Given the description of an element on the screen output the (x, y) to click on. 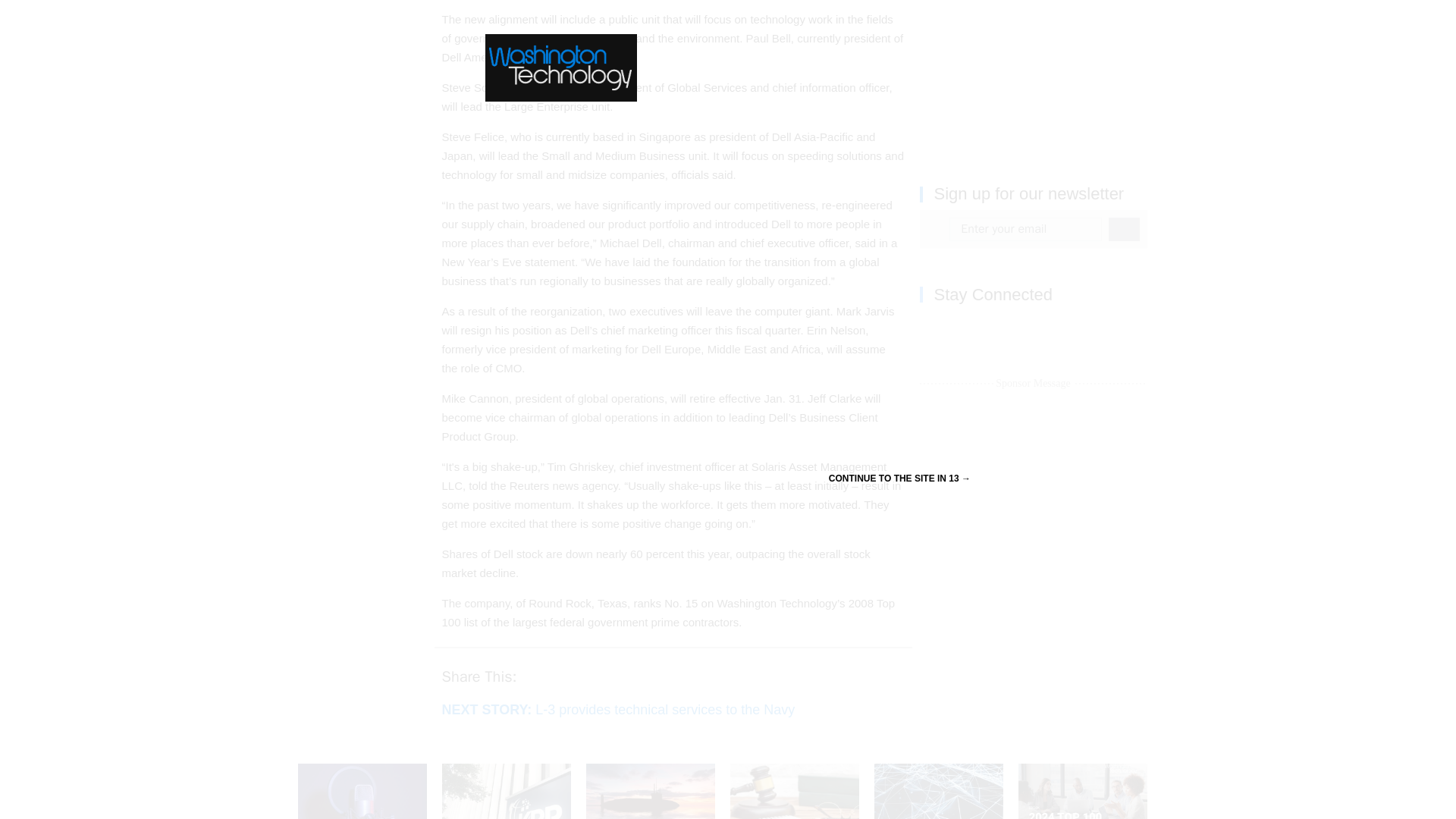
3rd party ad content (1032, 74)
